Given the description of an element on the screen output the (x, y) to click on. 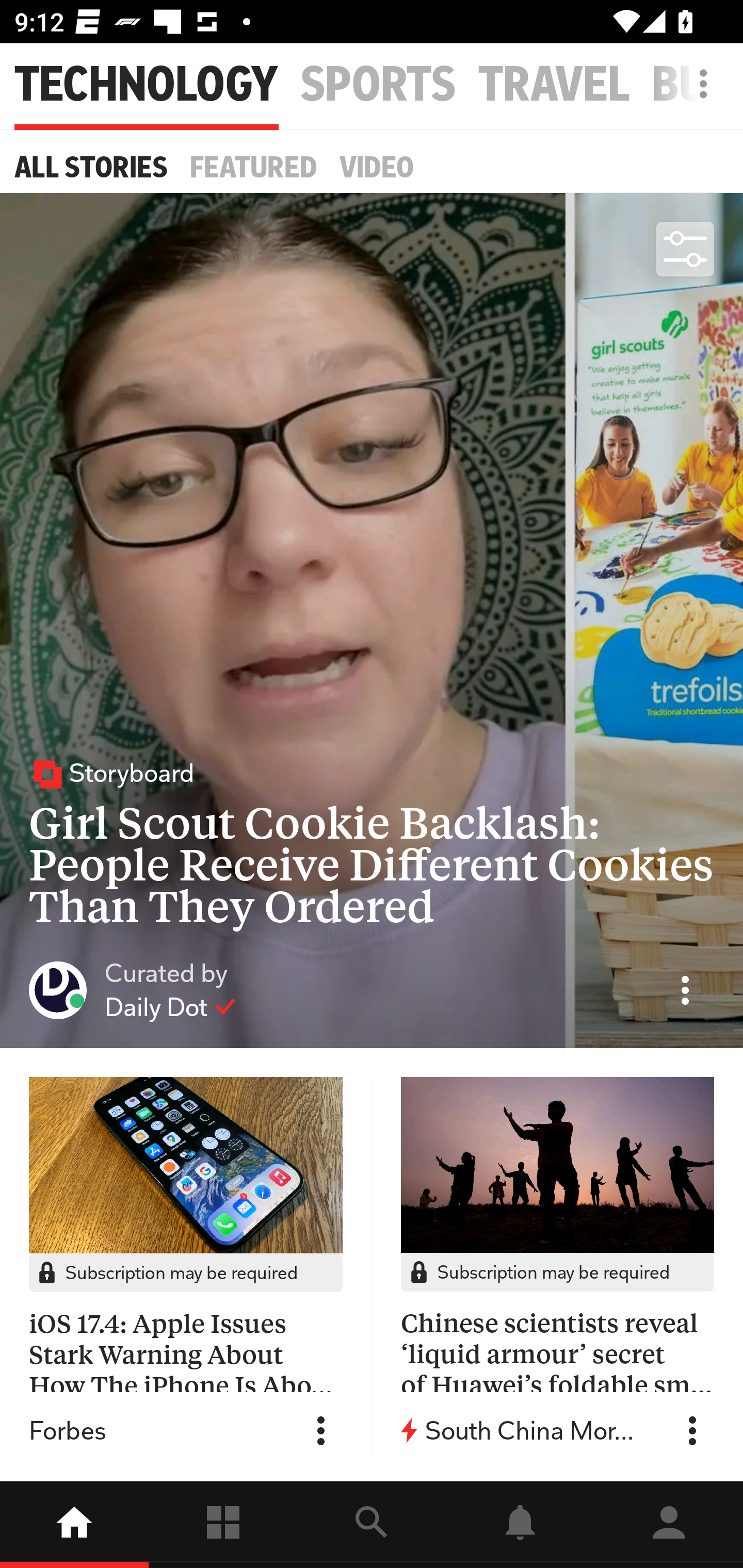
TECHNOLOGY (146, 84)
SPORTS (378, 84)
TRAVEL (554, 84)
Edit Home (697, 83)
ALL STORIES (90, 166)
FEATURED (254, 166)
VIDEO (376, 166)
Options (685, 989)
Subscription may be required (557, 1272)
Subscription may be required (185, 1272)
Options (320, 1430)
Options (692, 1430)
home (74, 1524)
Following (222, 1524)
explore (371, 1524)
Notifications (519, 1524)
Profile (668, 1524)
